Given the description of an element on the screen output the (x, y) to click on. 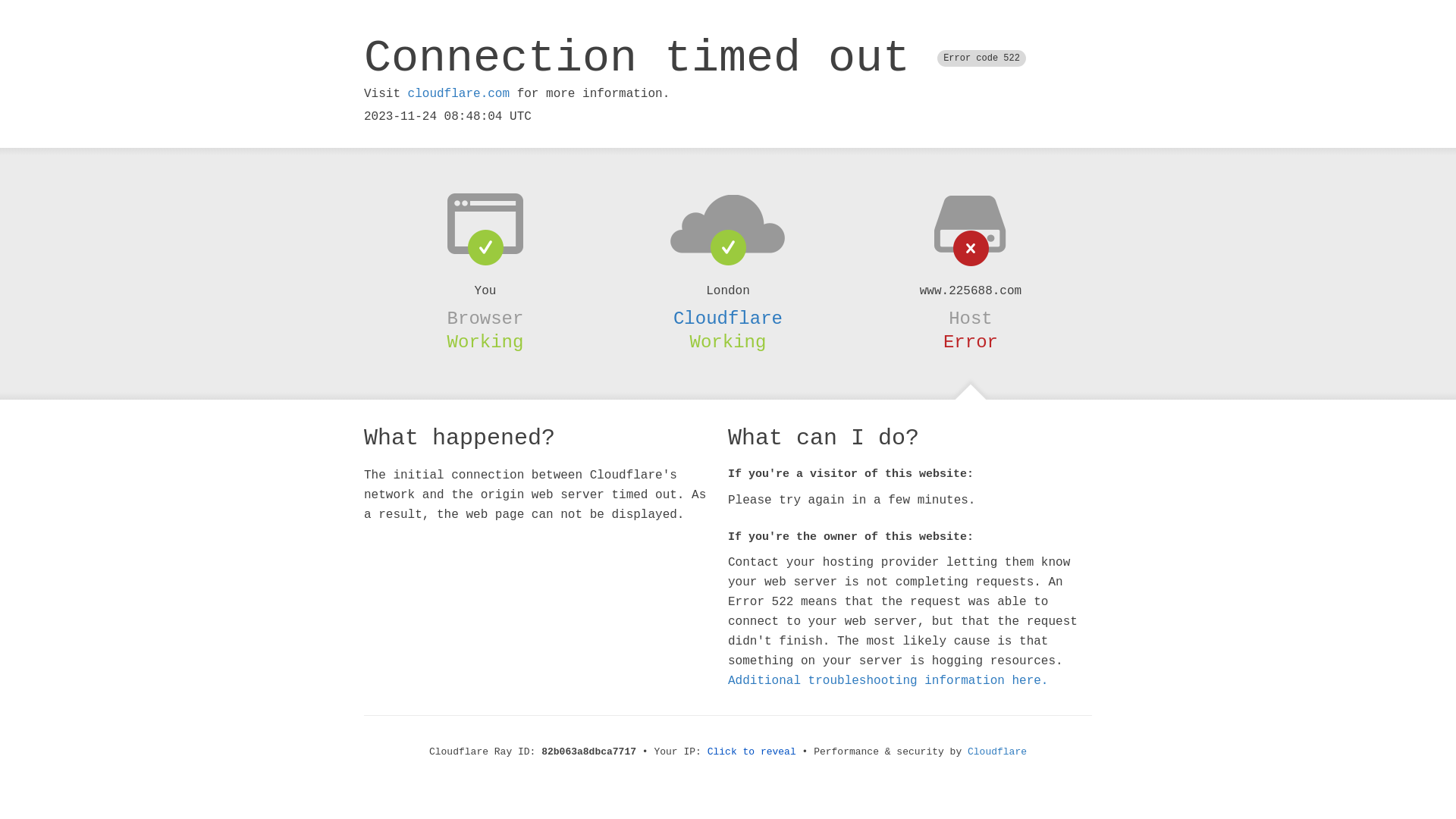
Additional troubleshooting information here. Element type: text (888, 680)
cloudflare.com Element type: text (458, 93)
Cloudflare Element type: text (996, 751)
Click to reveal Element type: text (751, 751)
Cloudflare Element type: text (727, 318)
